Given the description of an element on the screen output the (x, y) to click on. 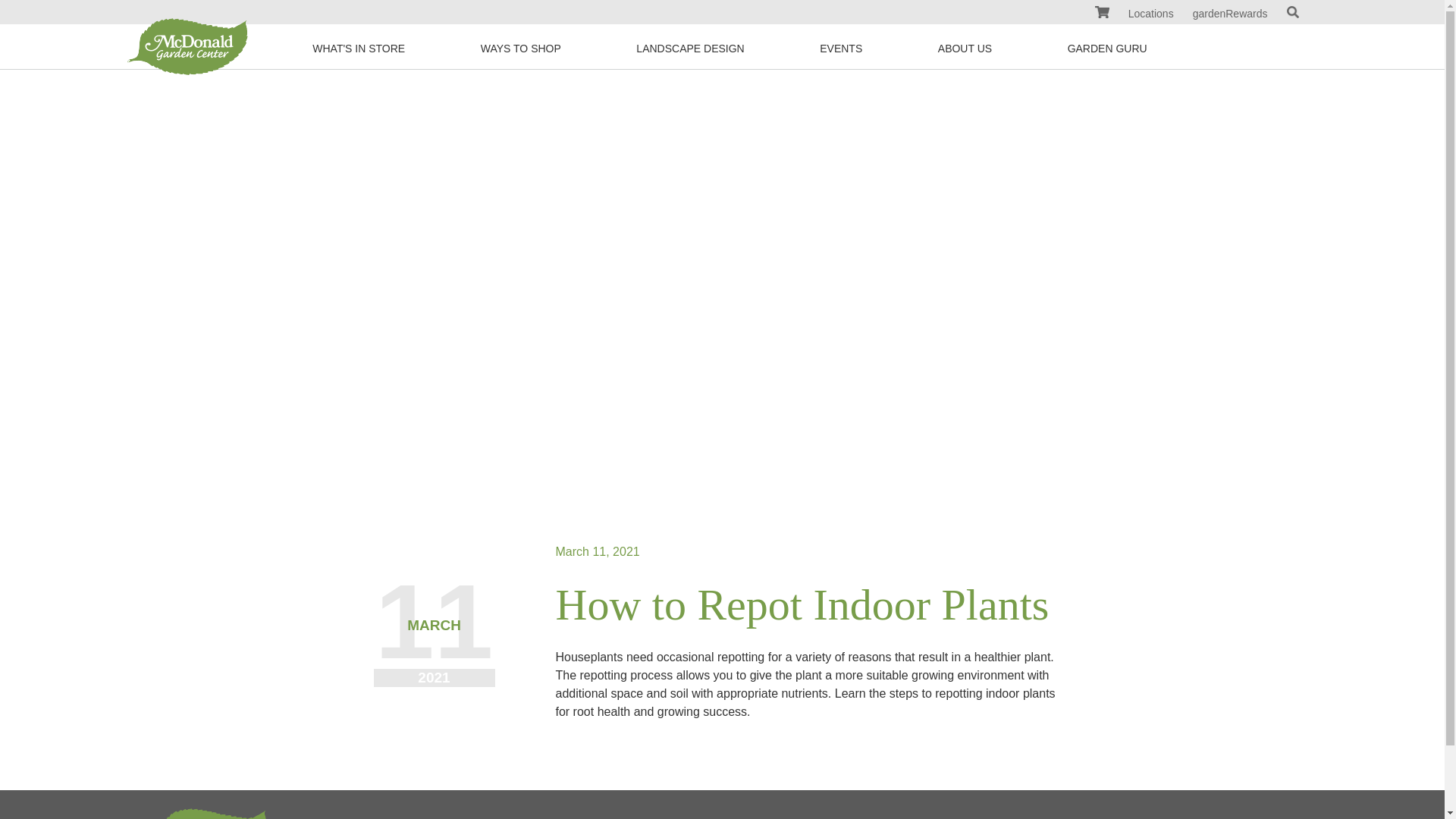
ABOUT US (964, 48)
EVENTS (840, 48)
gardenRewards (1230, 13)
WHAT'S IN STORE (358, 48)
LANDSCAPE DESIGN (1101, 13)
WAYS TO SHOP (689, 48)
GARDEN GURU (520, 48)
Skip to main content (1107, 48)
